Given the description of an element on the screen output the (x, y) to click on. 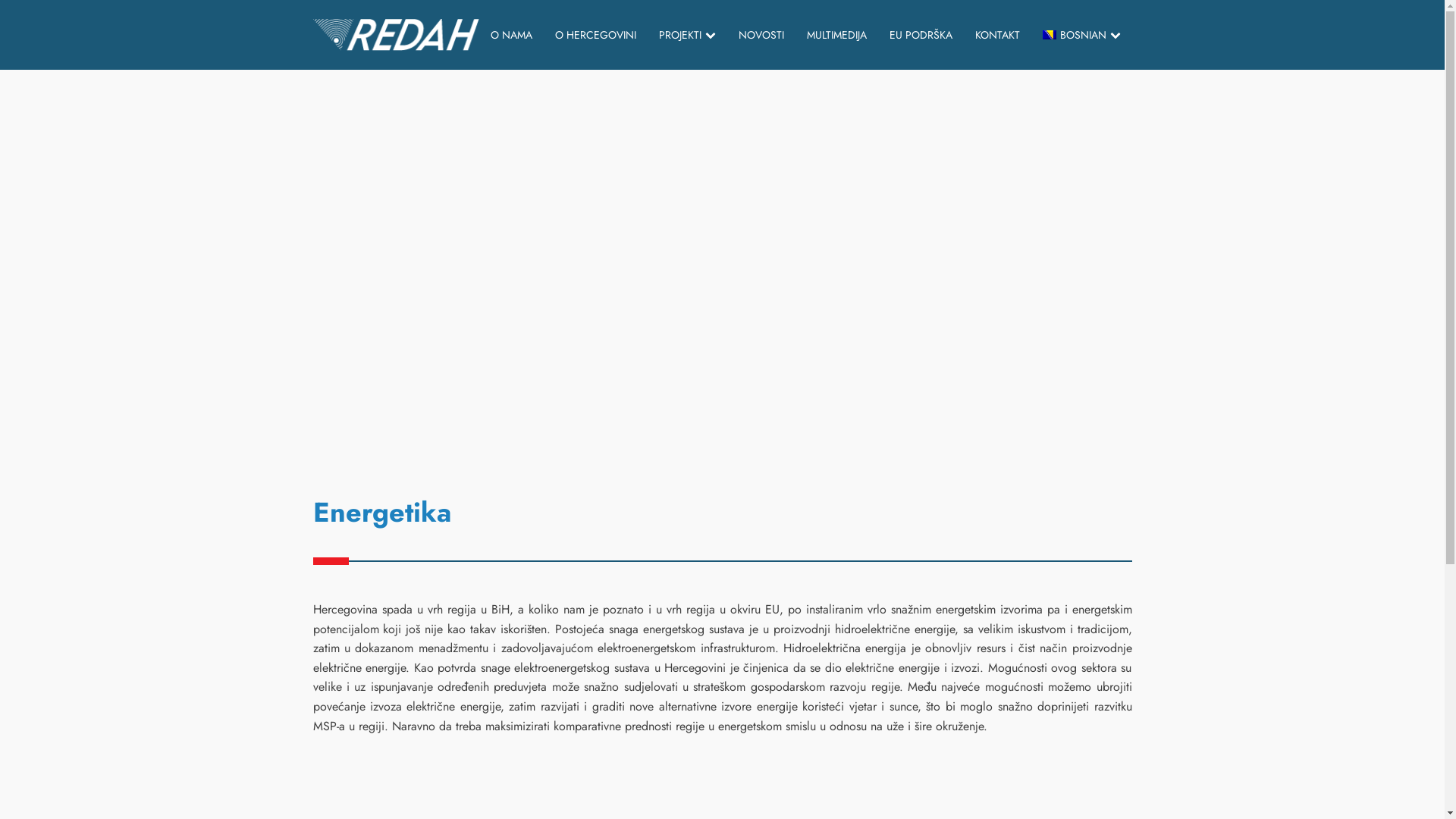
NOVOSTI Element type: text (760, 34)
O HERCEGOVINI Element type: text (595, 34)
MULTIMEDIJA Element type: text (836, 34)
BOSNIAN Element type: text (1080, 34)
O NAMA Element type: text (511, 34)
PROJEKTI Element type: text (687, 34)
KONTAKT Element type: text (997, 34)
